Given the description of an element on the screen output the (x, y) to click on. 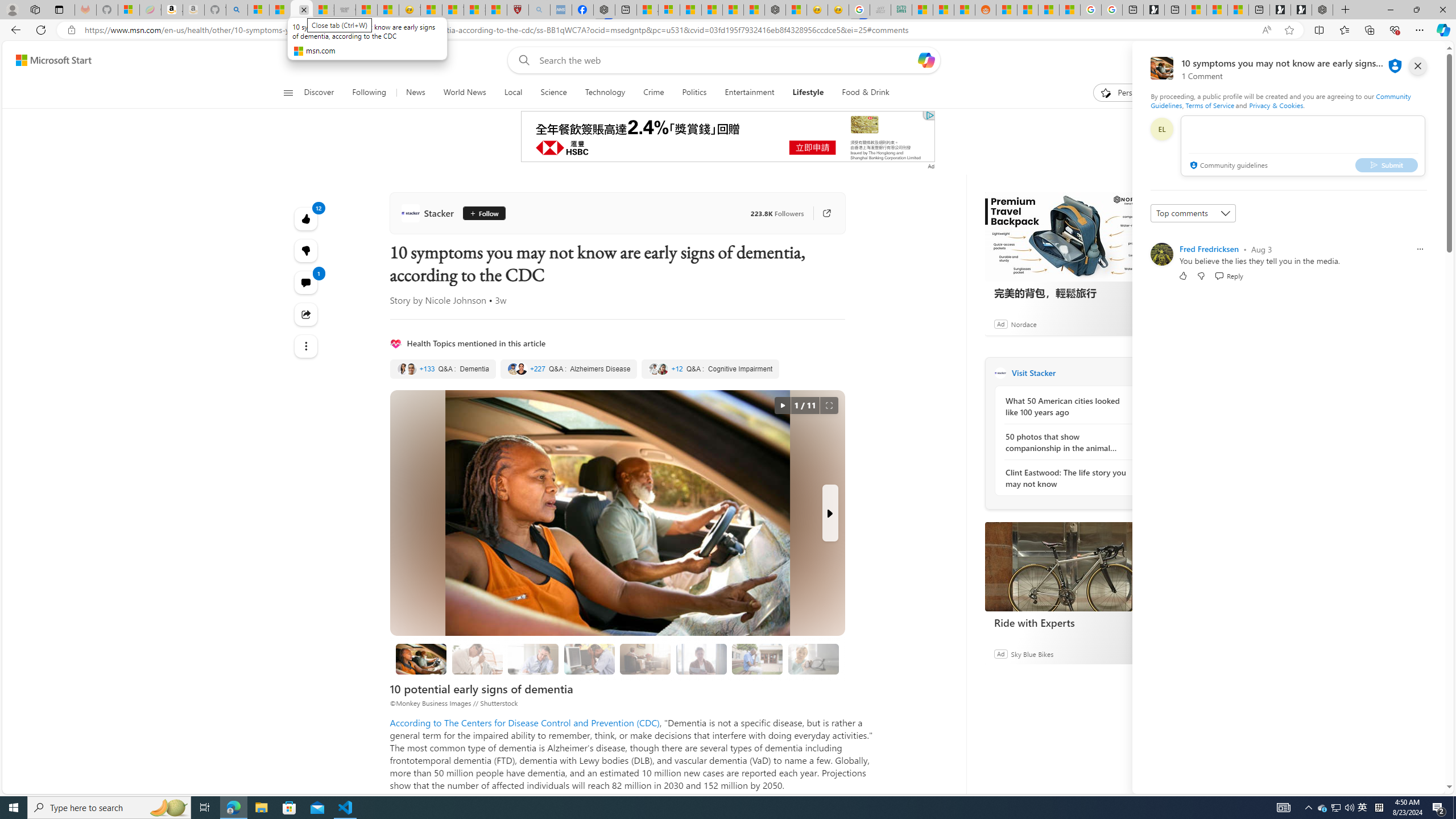
Science (553, 92)
Community guidelines (1228, 165)
Microsoft Start Gaming (1153, 9)
Like (1182, 275)
What 50 American cities looked like 100 years ago (1066, 406)
New problems with words in speaking or writing (756, 659)
Trouble understanding visual images and spatial relations (700, 658)
Next Slide (829, 512)
Recipes - MSN (431, 9)
Cognitive Impairment (711, 368)
